Given the description of an element on the screen output the (x, y) to click on. 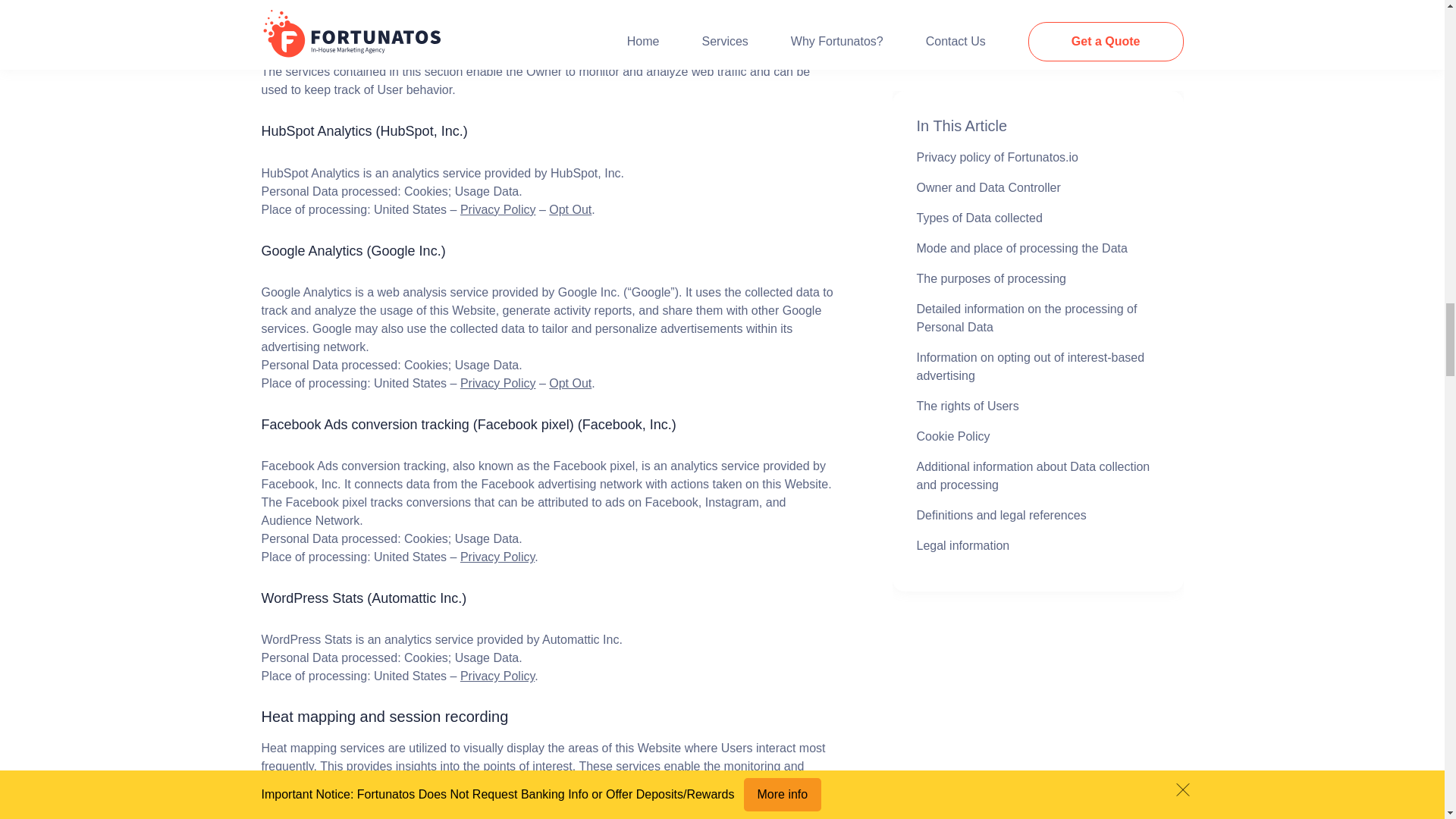
Opt Out (569, 209)
Privacy Policy (497, 209)
Privacy Policy (497, 675)
Privacy Policy (497, 382)
Opt Out (569, 382)
Privacy Policy (497, 556)
Privacy Policy (497, 3)
